Given the description of an element on the screen output the (x, y) to click on. 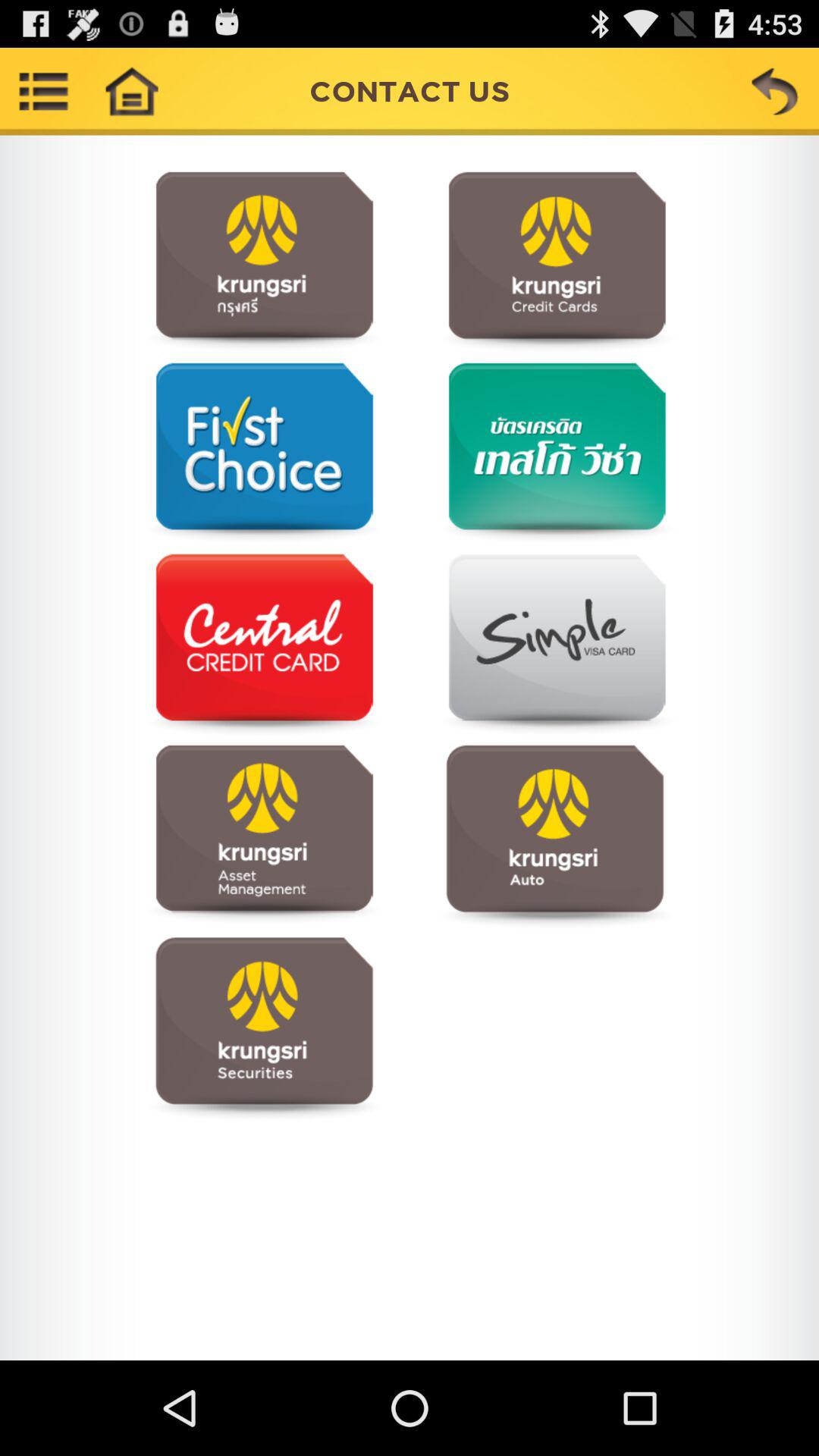
visit webpage (263, 835)
